Given the description of an element on the screen output the (x, y) to click on. 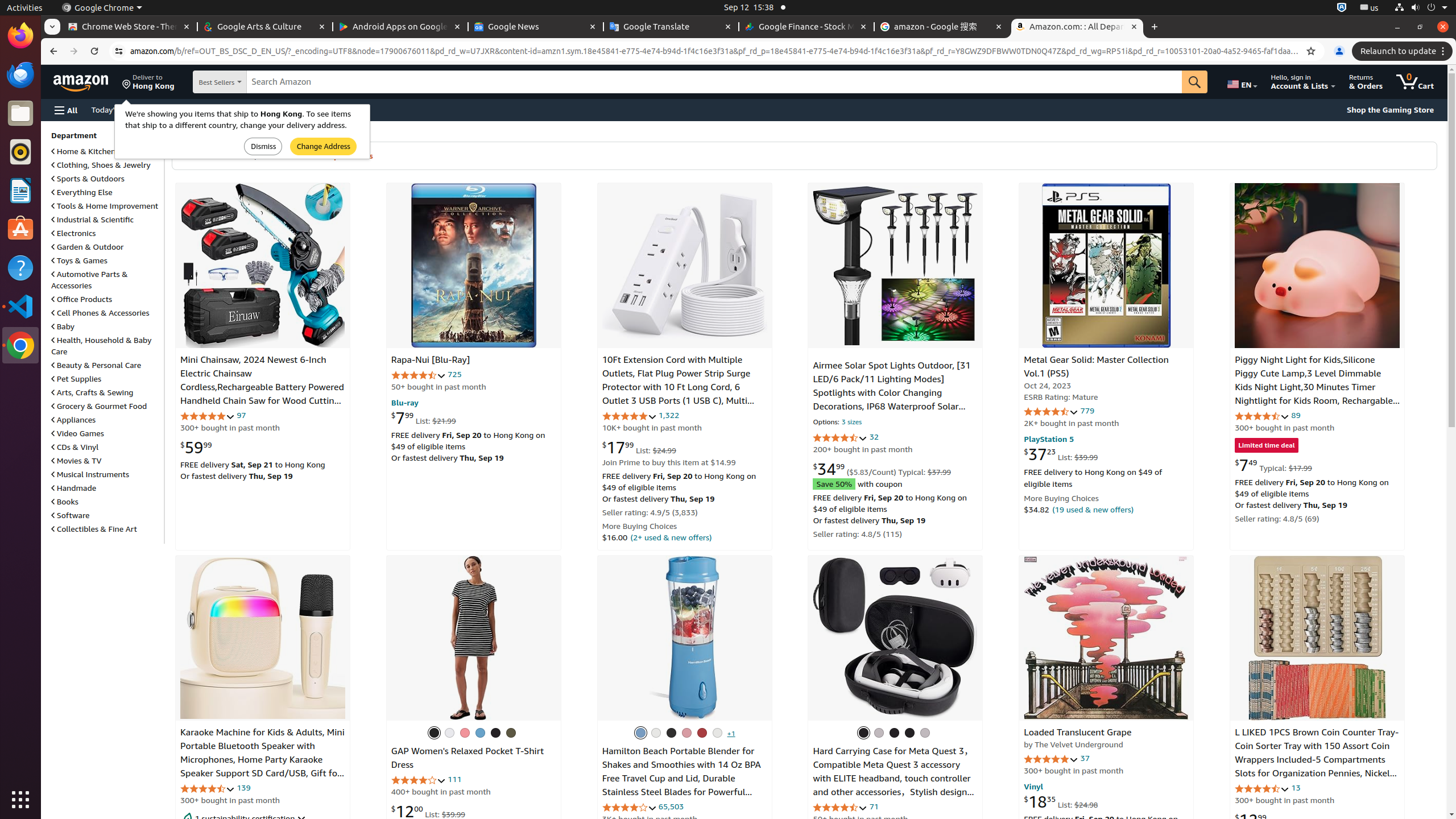
Coral Frost Element type: push-button (464, 732)
CDs & Vinyl Element type: link (74, 446)
Google Chrome Element type: menu (101, 7)
Files Element type: push-button (20, 113)
New Tab Element type: push-button (1154, 26)
